Given the description of an element on the screen output the (x, y) to click on. 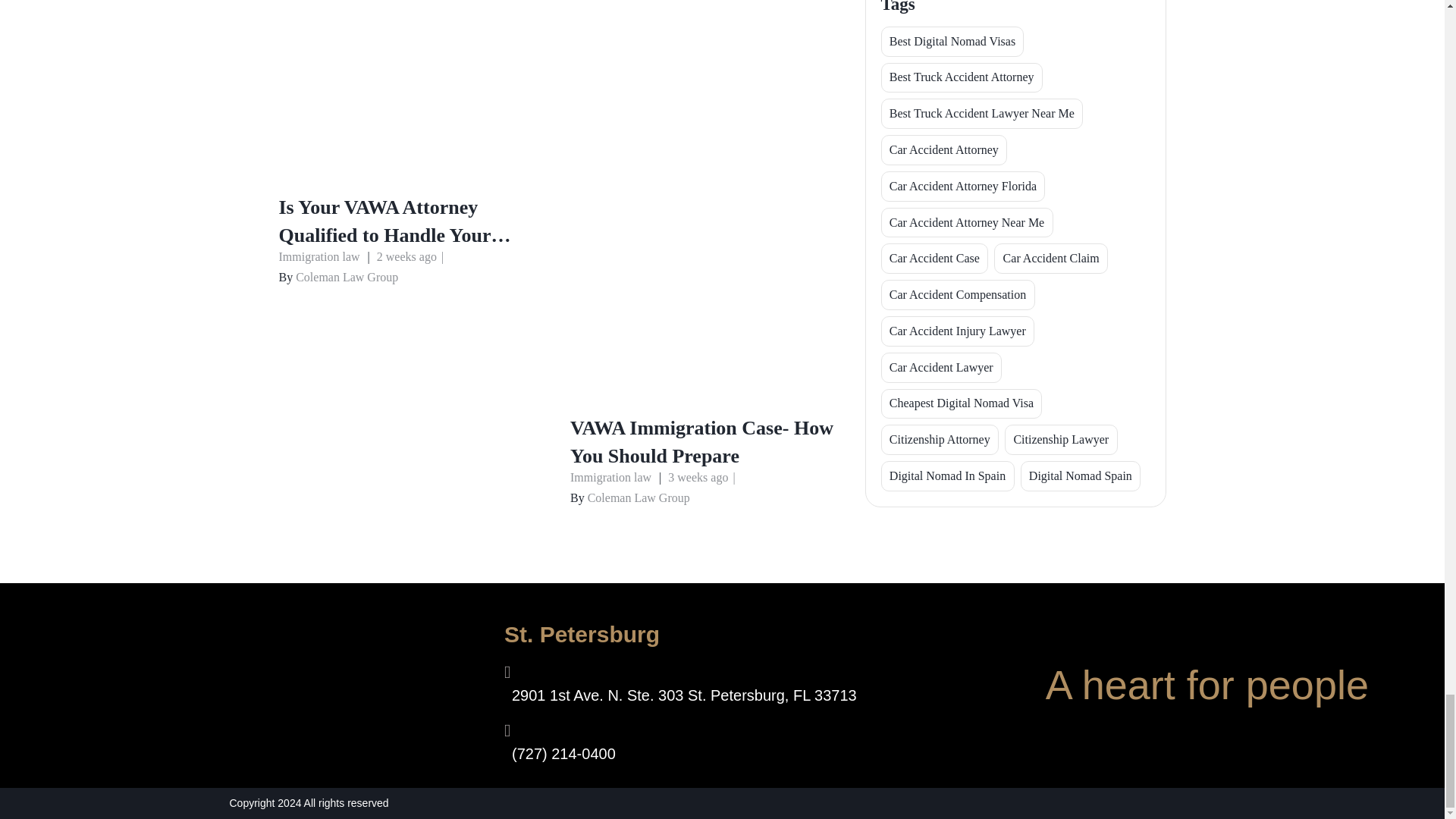
VAWA Immigration Case- How You Should Prepare (702, 400)
Feature image (411, 86)
Is Your VAWA Attorney Qualified to Handle Your Case? (411, 179)
